Given the description of an element on the screen output the (x, y) to click on. 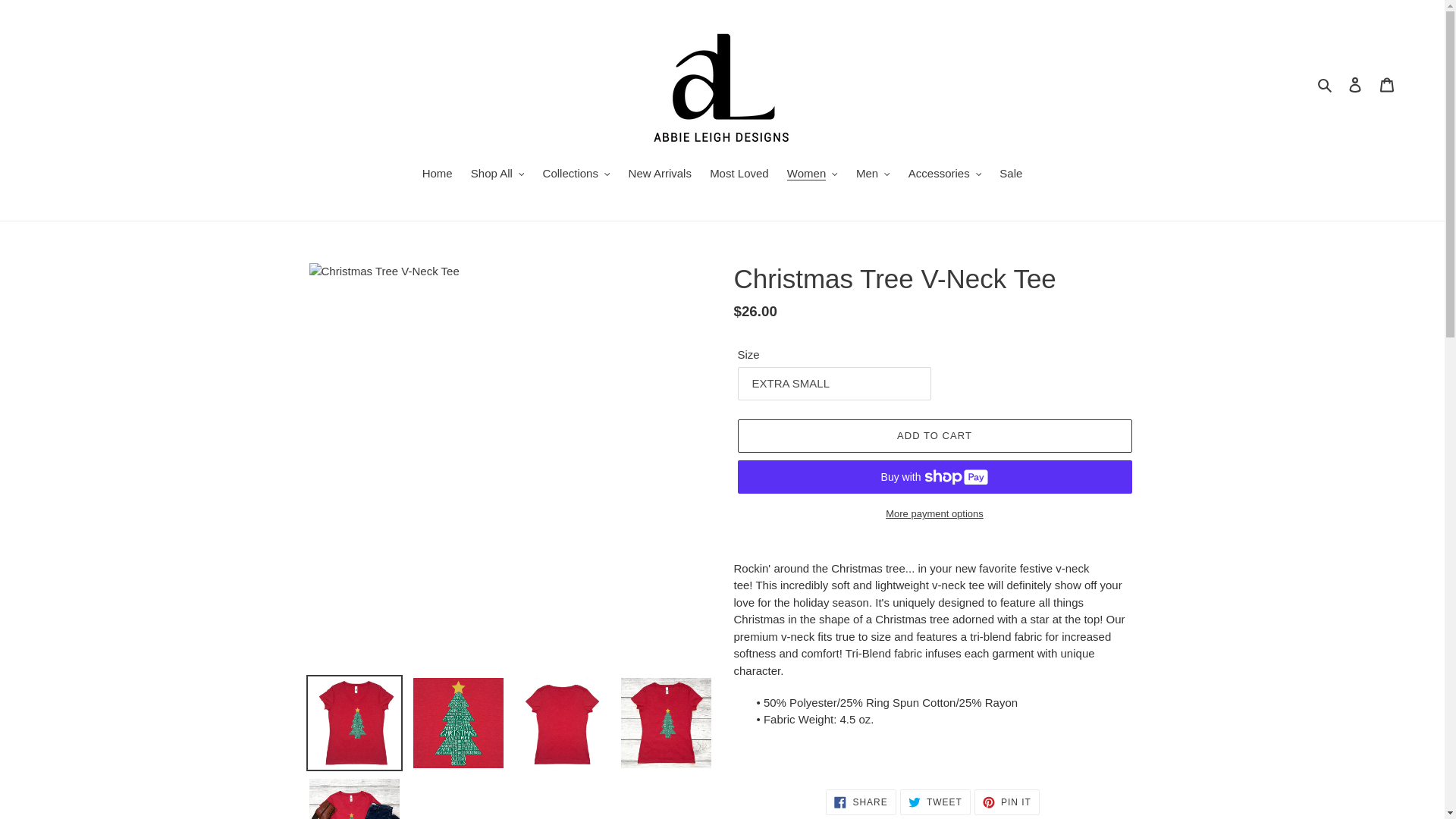
Log in (1355, 83)
Cart (1387, 83)
Search (1326, 84)
